Given the description of an element on the screen output the (x, y) to click on. 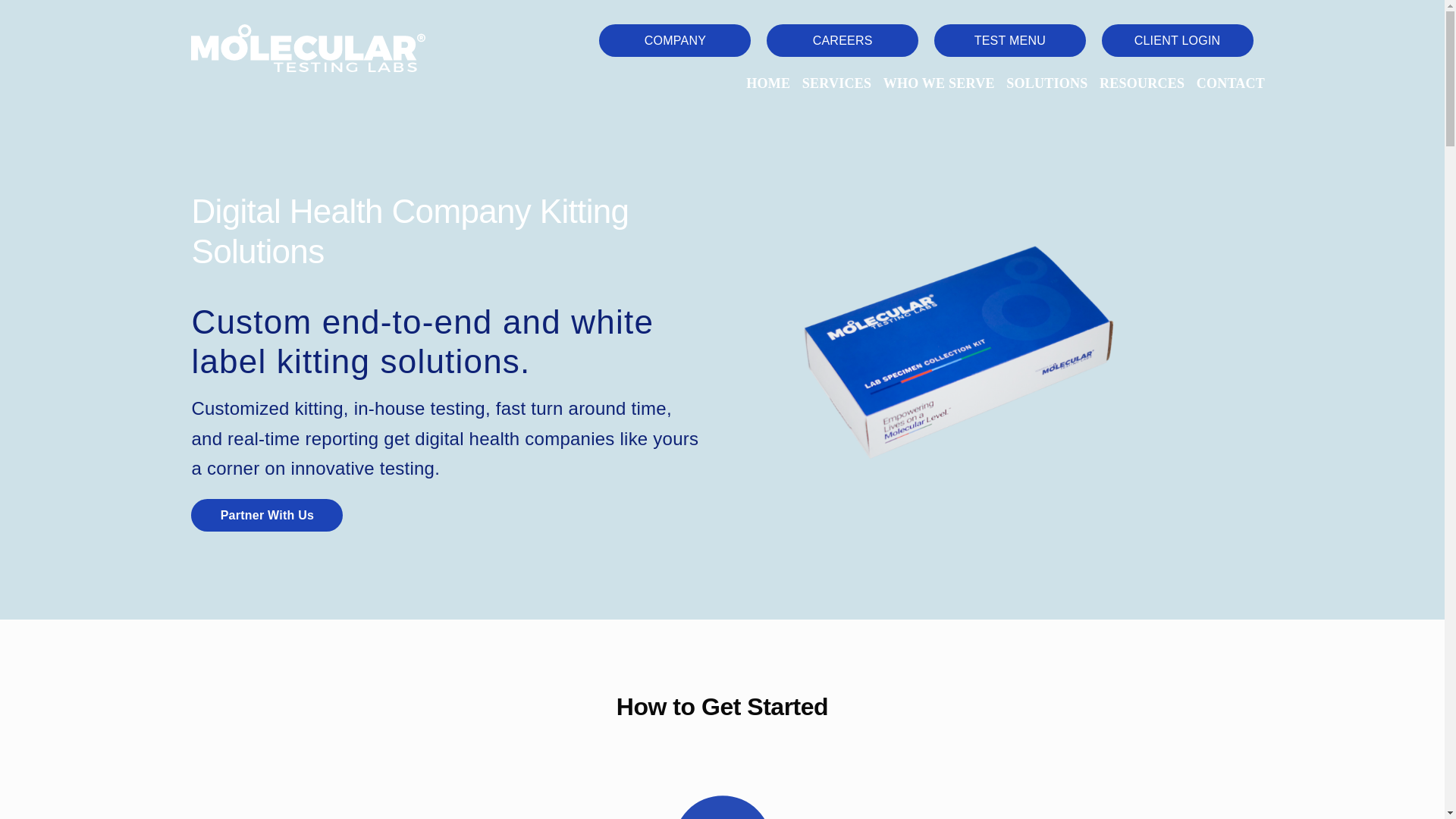
HOME (767, 83)
SERVICES (836, 83)
CLIENT LOGIN (1177, 40)
RESOURCES (1142, 83)
CAREERS (842, 40)
COMPANY (674, 40)
TEST MENU (1010, 40)
SOLUTIONS (1046, 83)
CONTACT (1230, 83)
WHO WE SERVE (938, 83)
